Given the description of an element on the screen output the (x, y) to click on. 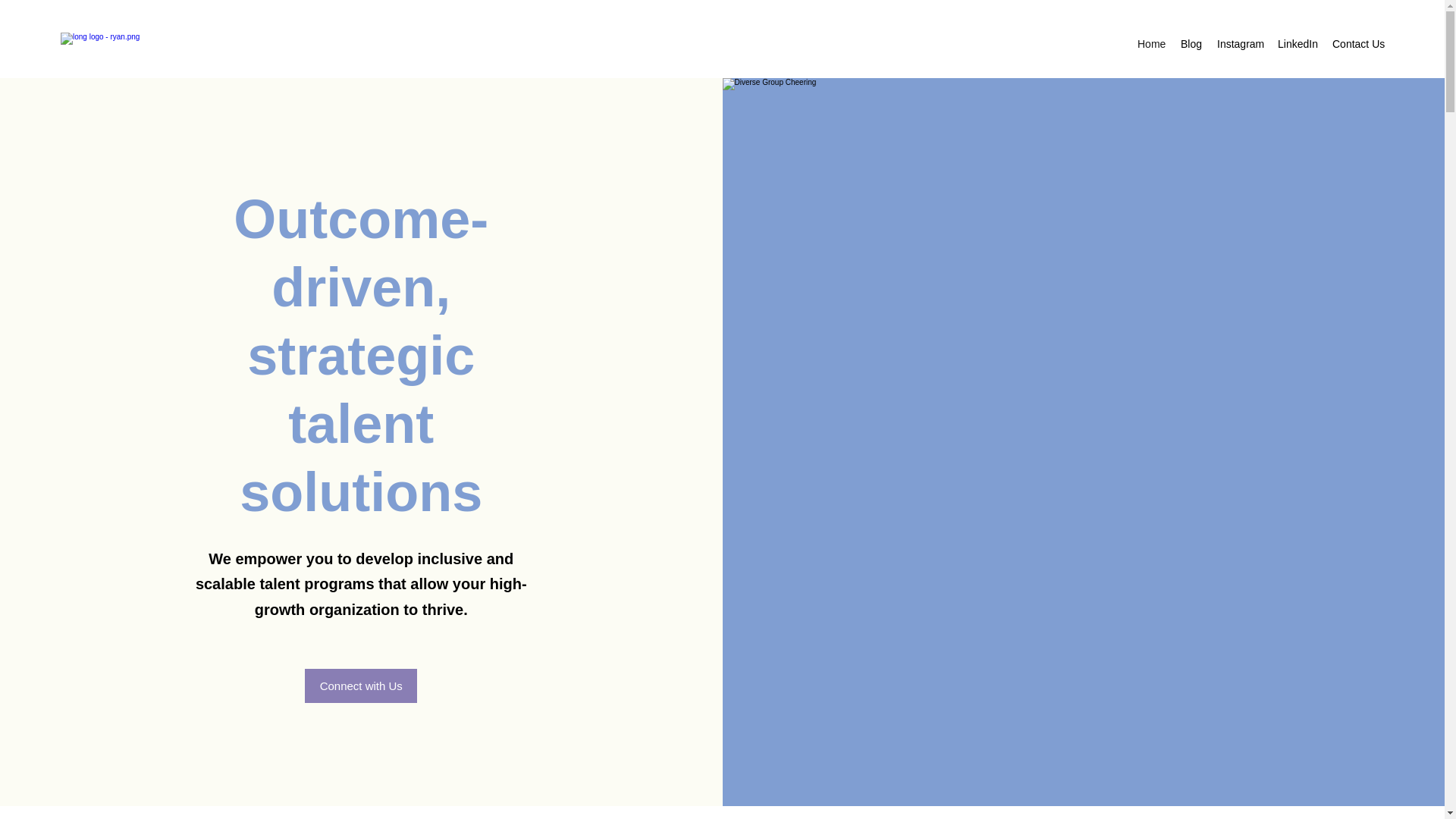
Blog (1191, 43)
LinkedIn (1296, 43)
Home (1151, 43)
Instagram (1239, 43)
Connect with Us (360, 685)
Contact Us (1357, 43)
